Given the description of an element on the screen output the (x, y) to click on. 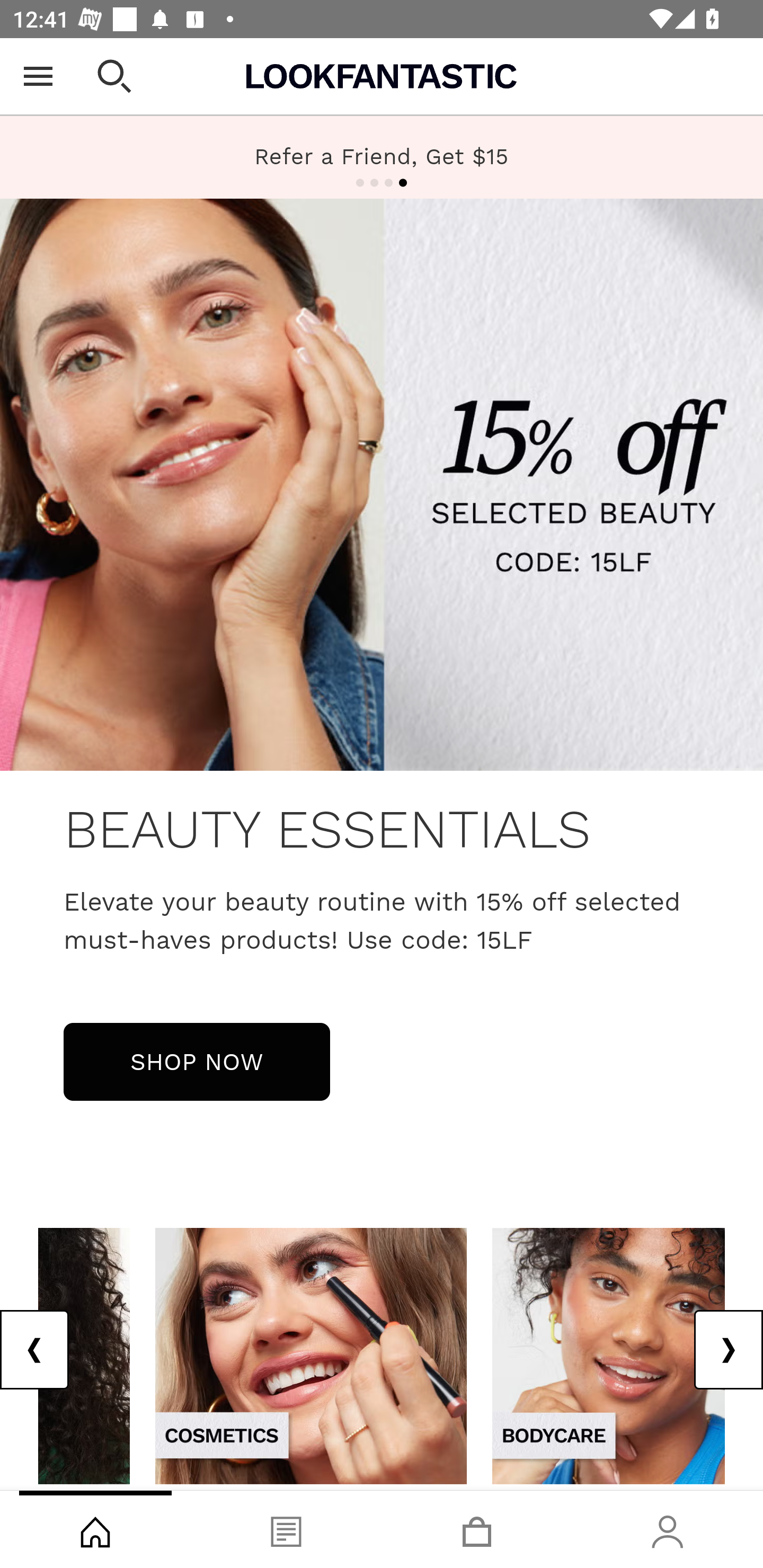
Open Menu (38, 75)
Open search (114, 75)
Lookfantastic USA (381, 75)
SHOP NOW (196, 1061)
view-all (310, 1355)
view-all (607, 1355)
Previous (35, 1349)
Next (727, 1349)
Shop, tab, 1 of 4 (95, 1529)
Blog, tab, 2 of 4 (285, 1529)
Basket, tab, 3 of 4 (476, 1529)
Account, tab, 4 of 4 (667, 1529)
